Given the description of an element on the screen output the (x, y) to click on. 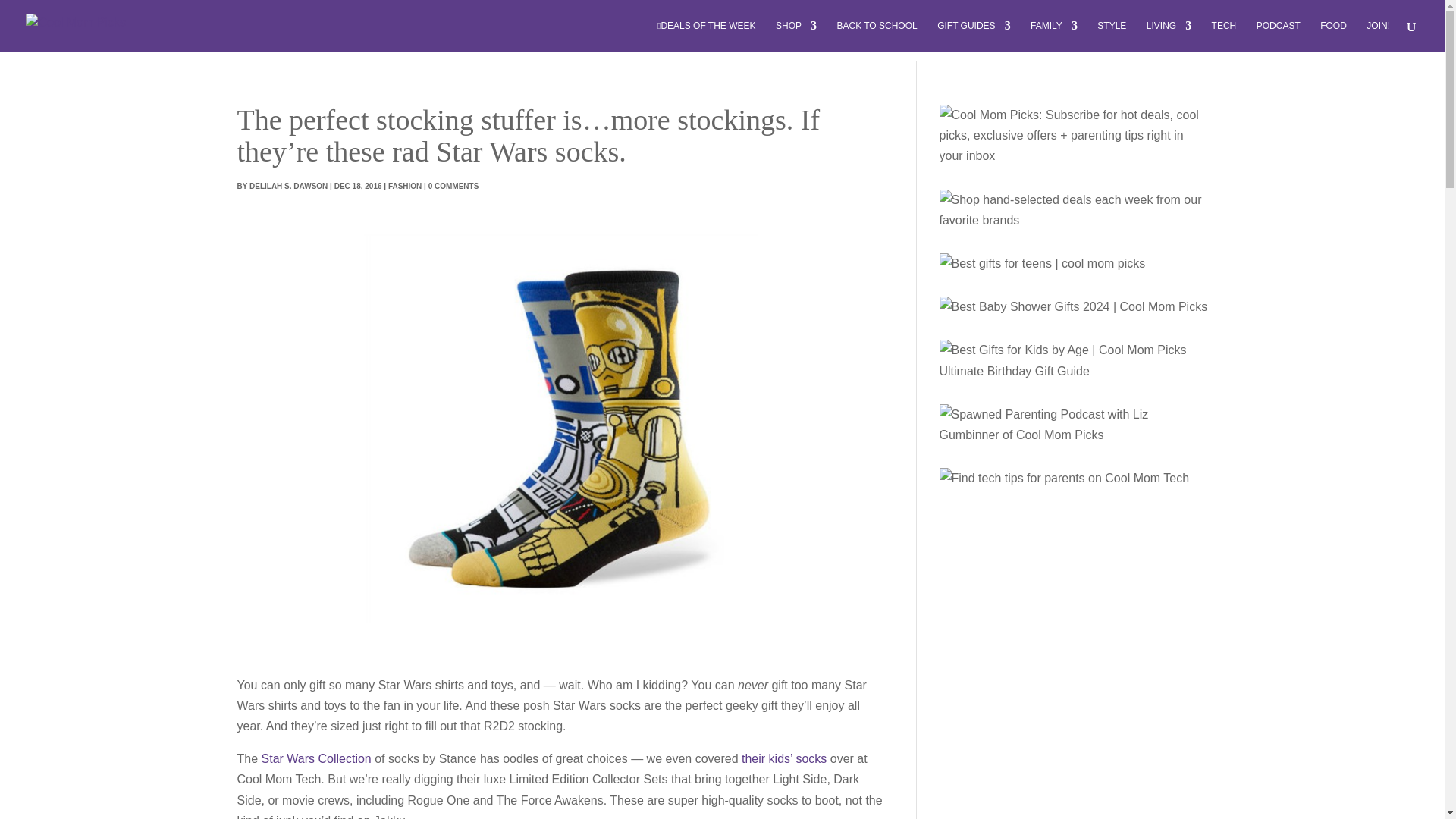
GIFT GUIDES (973, 35)
LIVING (1169, 35)
FAMILY (1053, 35)
Posts by Delilah S. Dawson (287, 185)
SHOP (796, 35)
STYLE (1111, 35)
BACK TO SCHOOL (876, 35)
Our Ultimate Kids Gift Guide: The Best Gifts By Age (1073, 359)
